Given the description of an element on the screen output the (x, y) to click on. 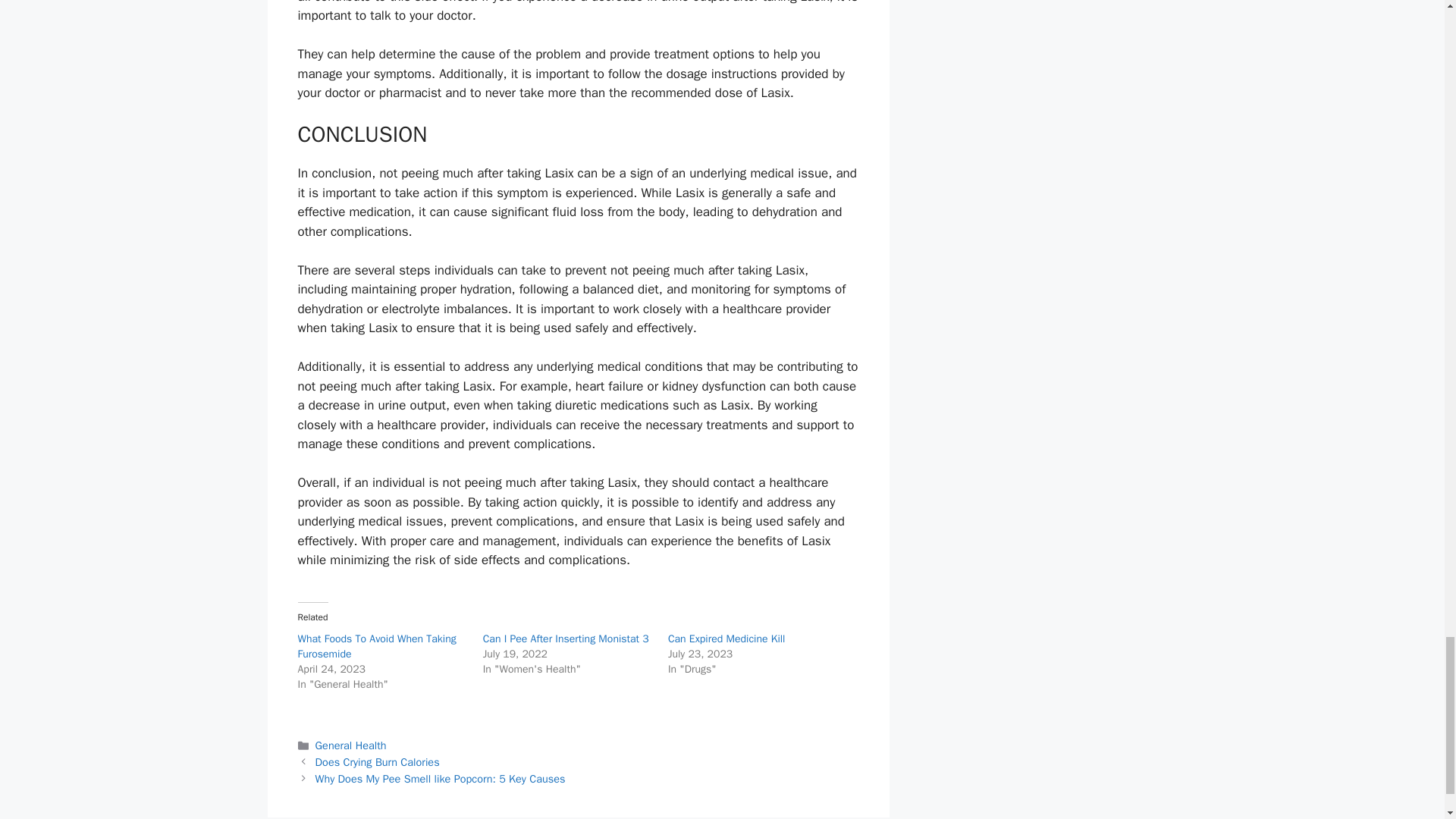
Why Does My Pee Smell like Popcorn: 5 Key Causes (440, 778)
Does Crying Burn Calories (377, 762)
Can I Pee After Inserting Monistat 3 (566, 638)
Can Expired Medicine Kill (727, 638)
What Foods To Avoid When Taking Furosemide (376, 646)
What Foods To Avoid When Taking Furosemide (376, 646)
Can Expired Medicine Kill (727, 638)
Can I Pee After Inserting Monistat 3 (566, 638)
General Health (351, 745)
